Given the description of an element on the screen output the (x, y) to click on. 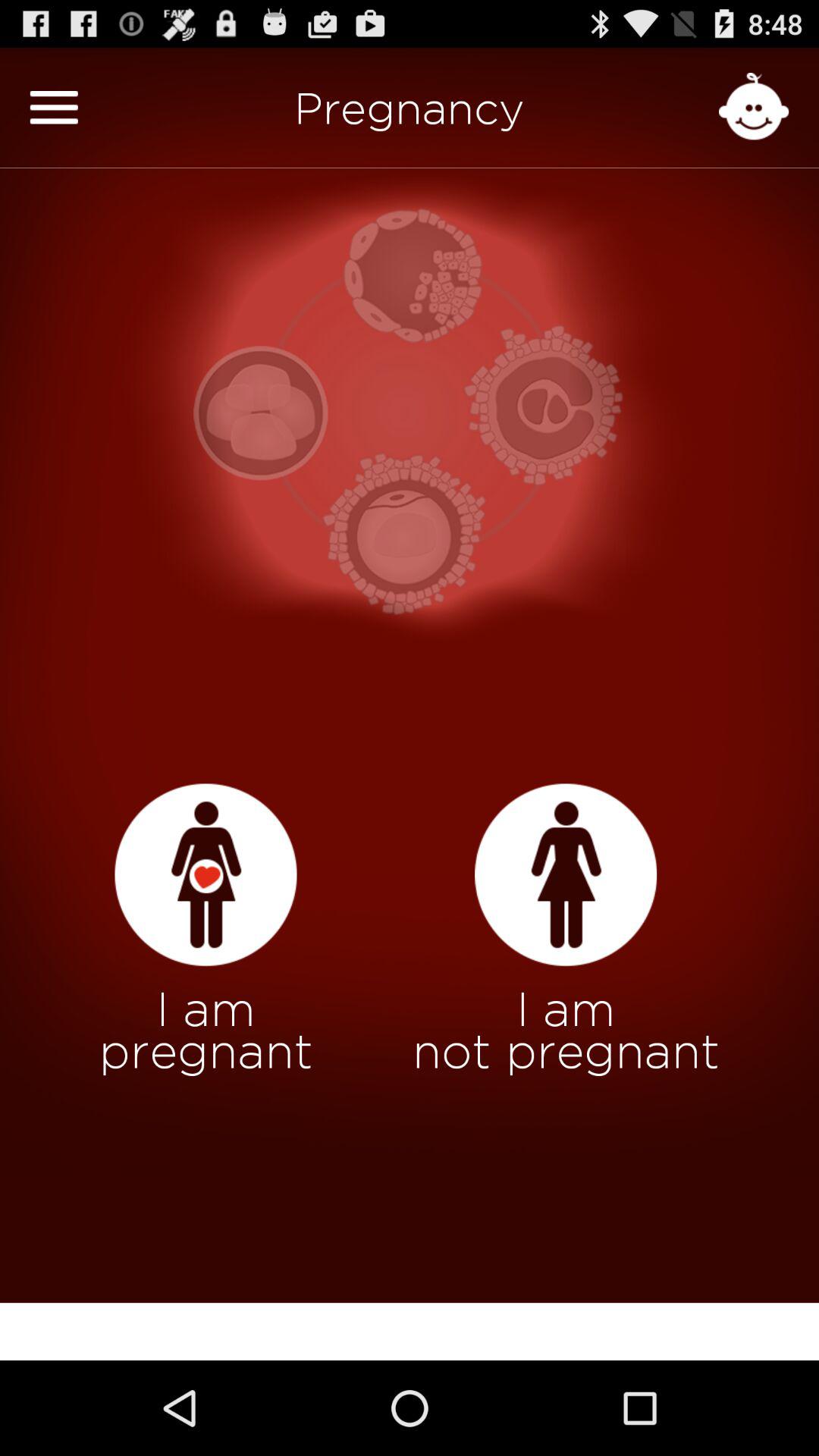
select i am pregnant (205, 874)
